Given the description of an element on the screen output the (x, y) to click on. 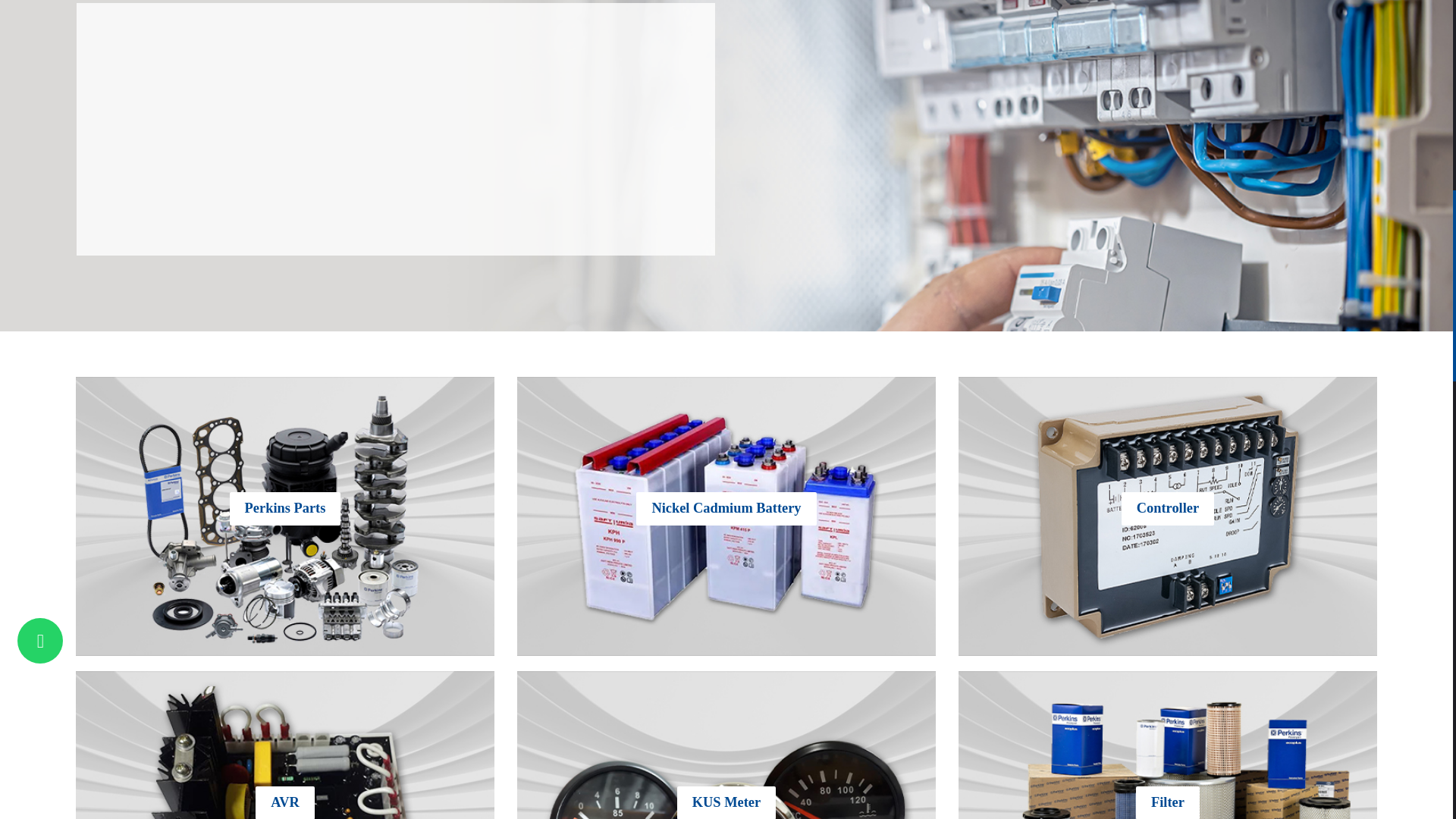
Filter (1168, 801)
Perkins Parts (285, 507)
Nickel Cadmium Battery (725, 507)
Controller (1167, 507)
AVR (284, 801)
KUS Meter (726, 801)
